Given the description of an element on the screen output the (x, y) to click on. 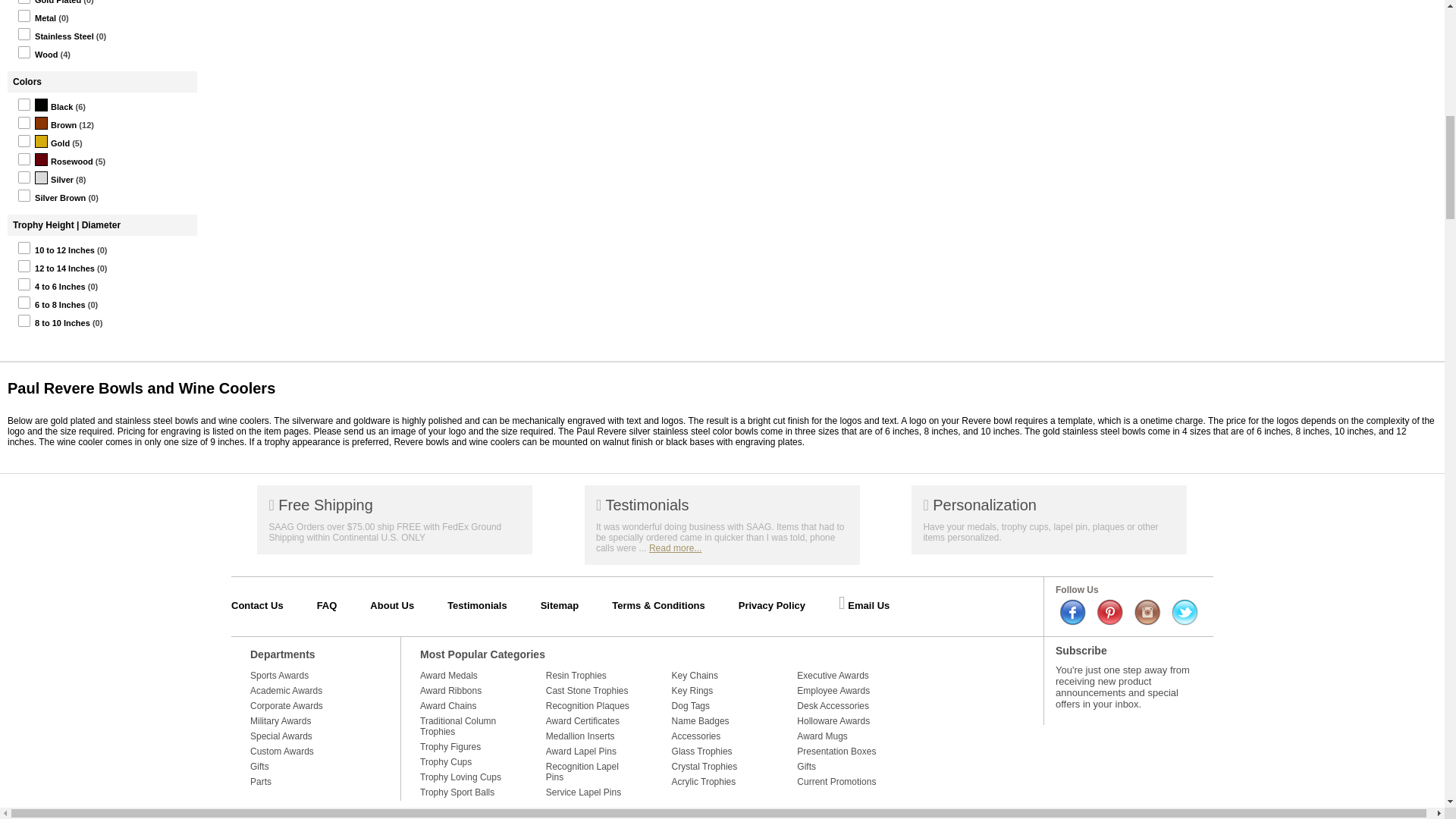
Testimonials (491, 605)
Award Medals (464, 675)
Parts (315, 781)
Special Awards (315, 735)
About Us (406, 605)
Academic Awards (315, 690)
Read more... (675, 547)
Custom Awards (315, 751)
Military Awards (315, 720)
Gifts (315, 766)
Corporate Awards (315, 705)
Privacy Policy (786, 605)
Sitemap (575, 605)
Contact Us (272, 605)
FAQ (342, 605)
